Given the description of an element on the screen output the (x, y) to click on. 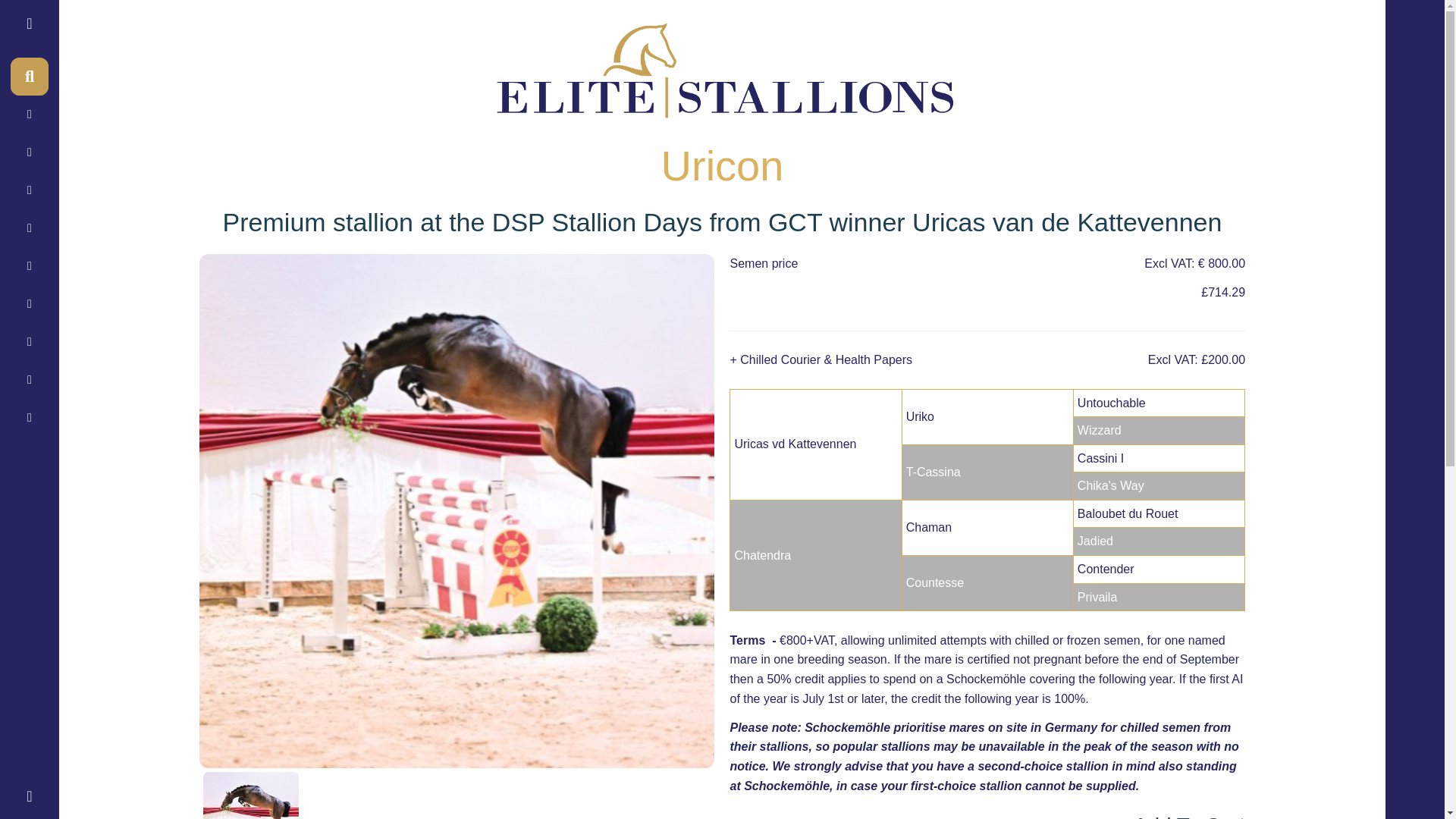
Basket Link (29, 303)
Account Link (29, 379)
About Us Link (29, 152)
Homepage Link (29, 114)
Account Link (29, 341)
Homepage Link (29, 23)
Breeding Guide (29, 417)
News Link (29, 266)
Covering Certificate Link (29, 228)
Stallions Link (29, 190)
